Given the description of an element on the screen output the (x, y) to click on. 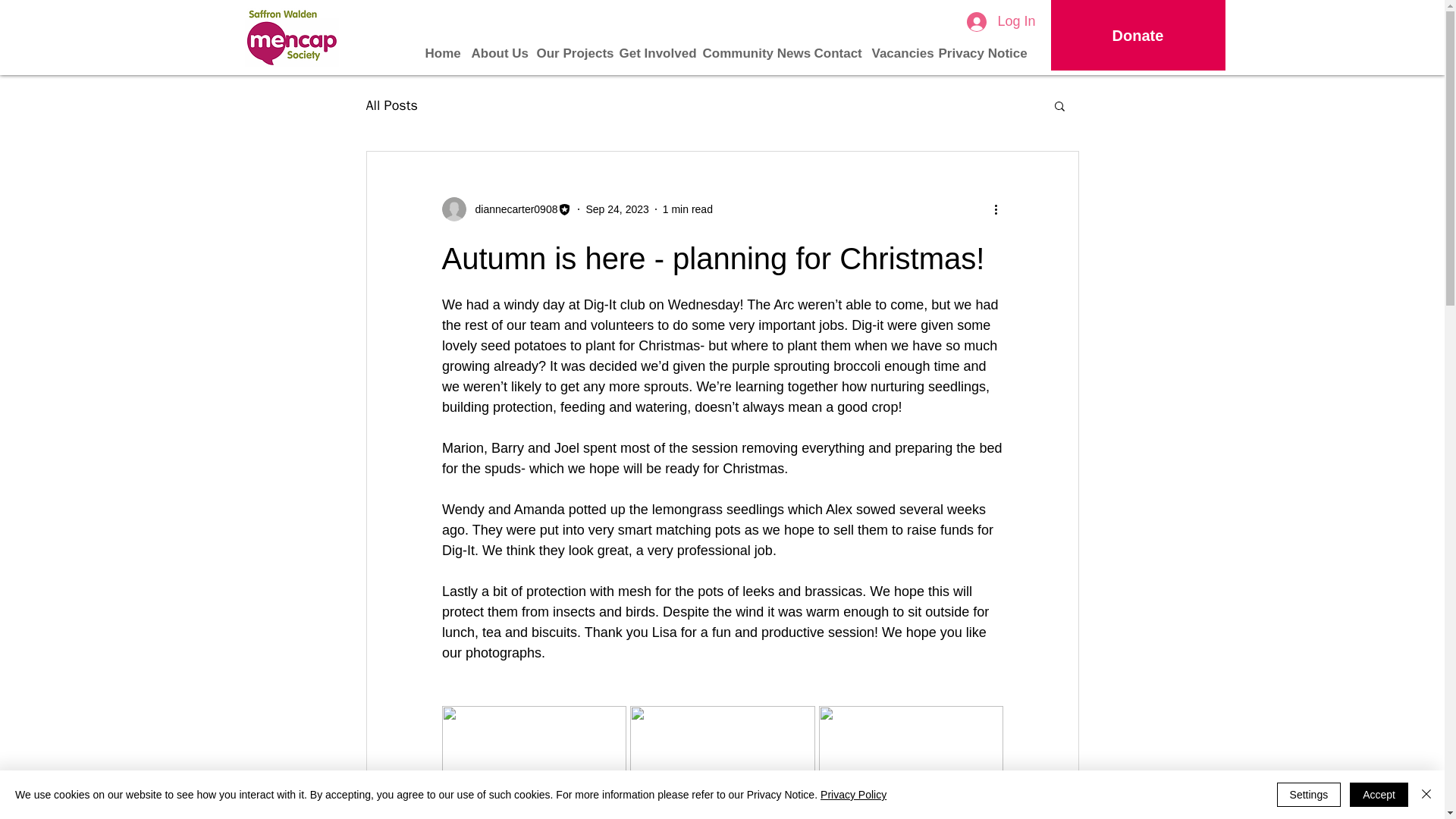
Log In (1000, 21)
1 min read (687, 209)
Community News (751, 46)
Donate (1138, 35)
Get Involved (653, 46)
About Us (498, 46)
diannecarter0908 (506, 209)
All Posts (390, 105)
Contact (837, 46)
Home (441, 46)
